Given the description of an element on the screen output the (x, y) to click on. 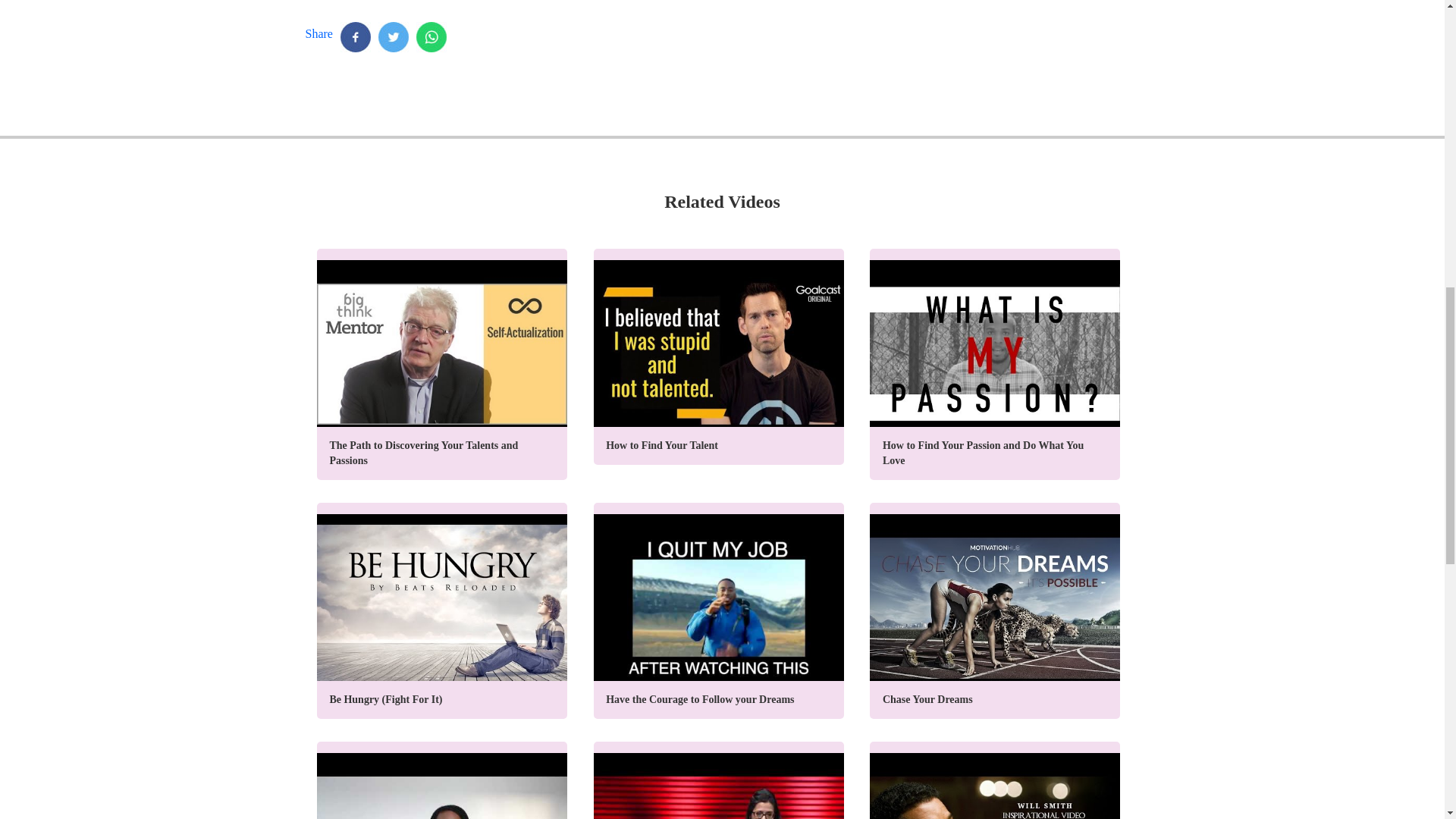
Chase Your Dreams (994, 610)
Passion or Money? Career Dilemmas (442, 780)
How to Find Your Passion and Do What You Love (994, 363)
The Path to Discovering Your Talents and Passions (442, 363)
Have the Courage to Follow your Dreams (719, 610)
Believe by Will Smith (994, 780)
Stop Searching for Your Passion (719, 780)
How to Find Your Talent (719, 356)
